Given the description of an element on the screen output the (x, y) to click on. 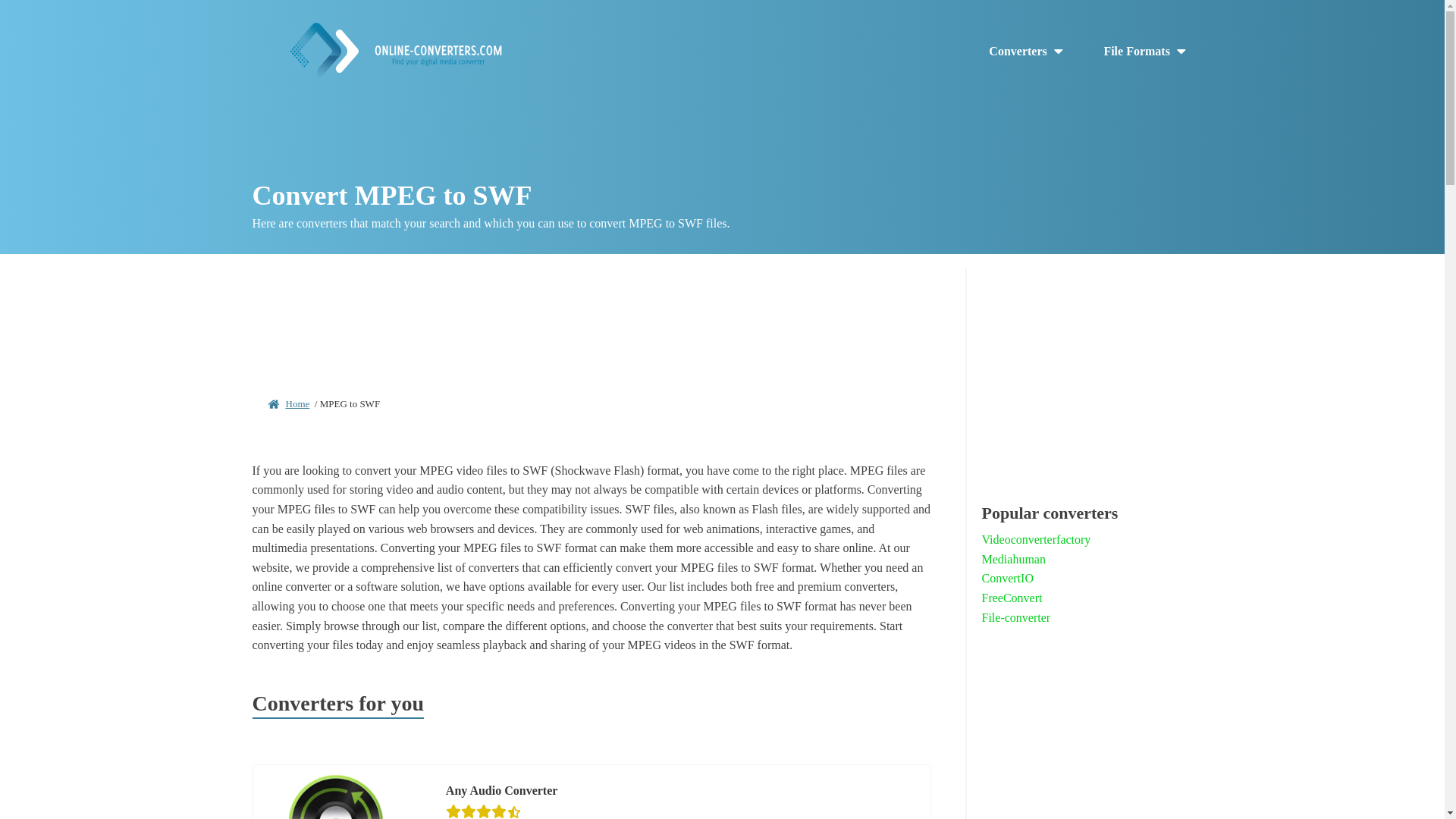
Converters (1026, 51)
File Formats (1145, 51)
Any Audio Converter (501, 790)
Home (296, 403)
Advertisement (1087, 738)
Advertisement (591, 318)
Advertisement (1087, 371)
